Given the description of an element on the screen output the (x, y) to click on. 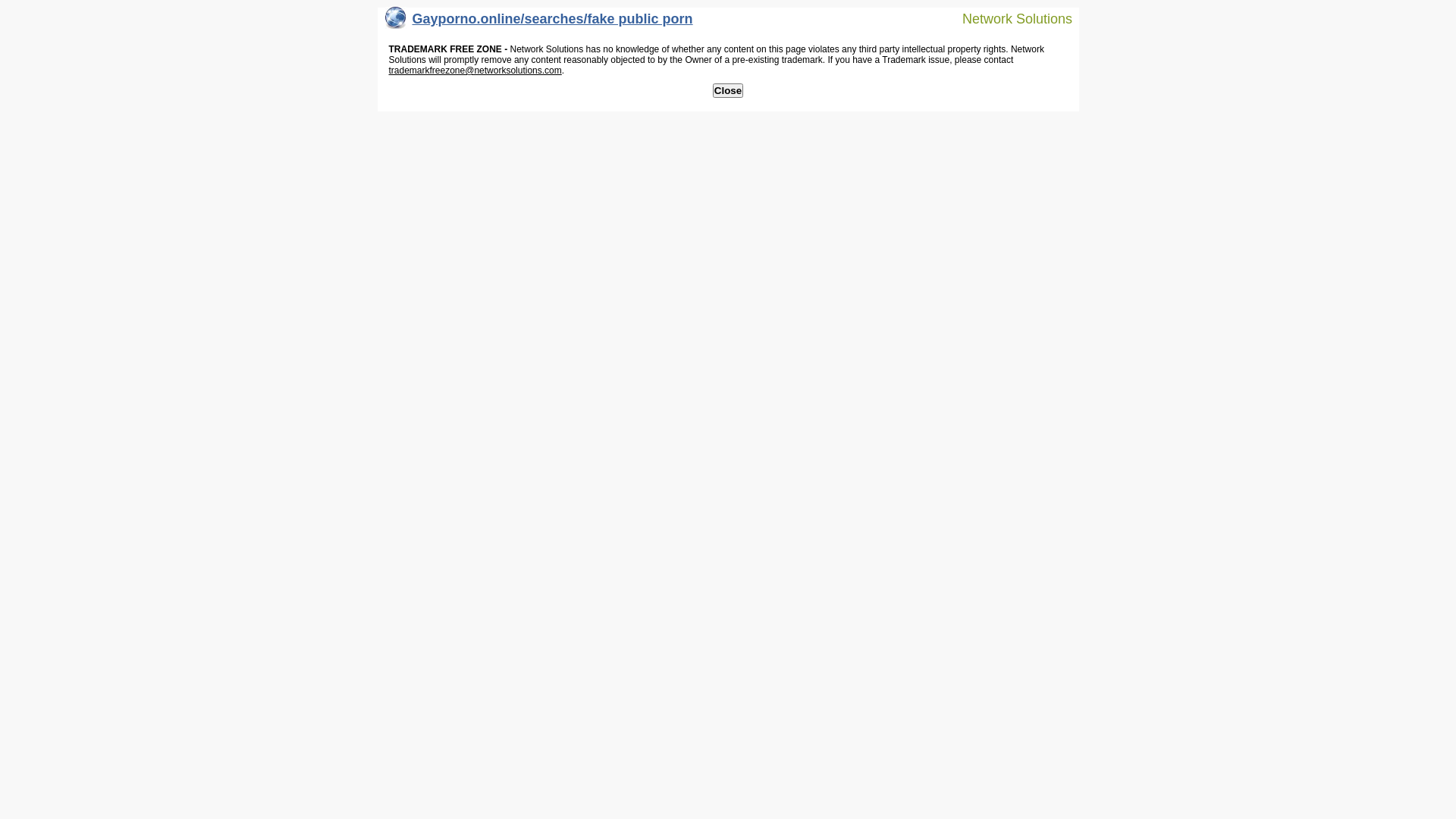
Close Element type: text (727, 90)
Gayporno.online/searches/fake public porn Element type: text (539, 21)
trademarkfreezone@networksolutions.com Element type: text (474, 70)
Network Solutions Element type: text (1007, 17)
